Given the description of an element on the screen output the (x, y) to click on. 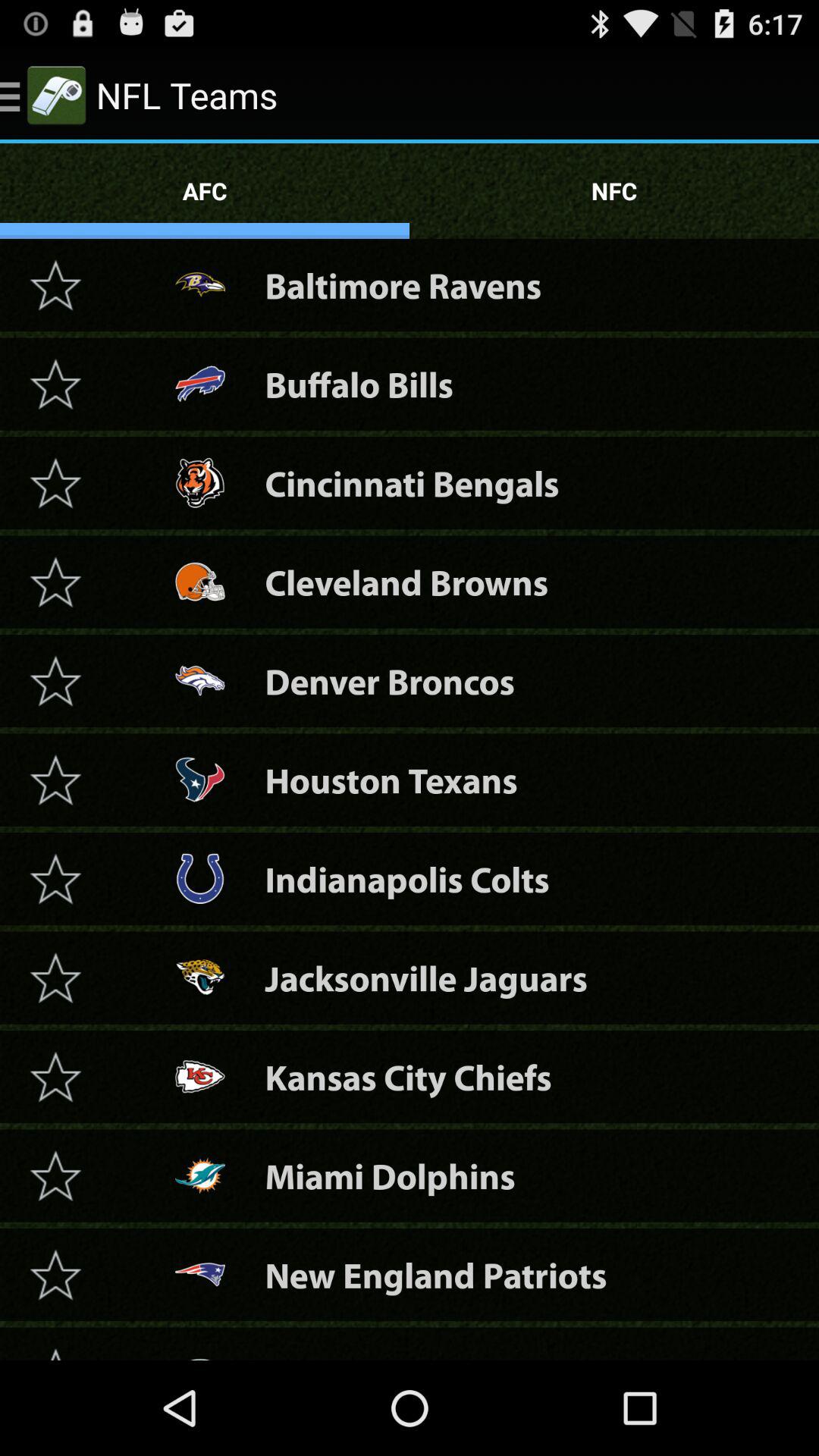
favorites team (55, 581)
